Given the description of an element on the screen output the (x, y) to click on. 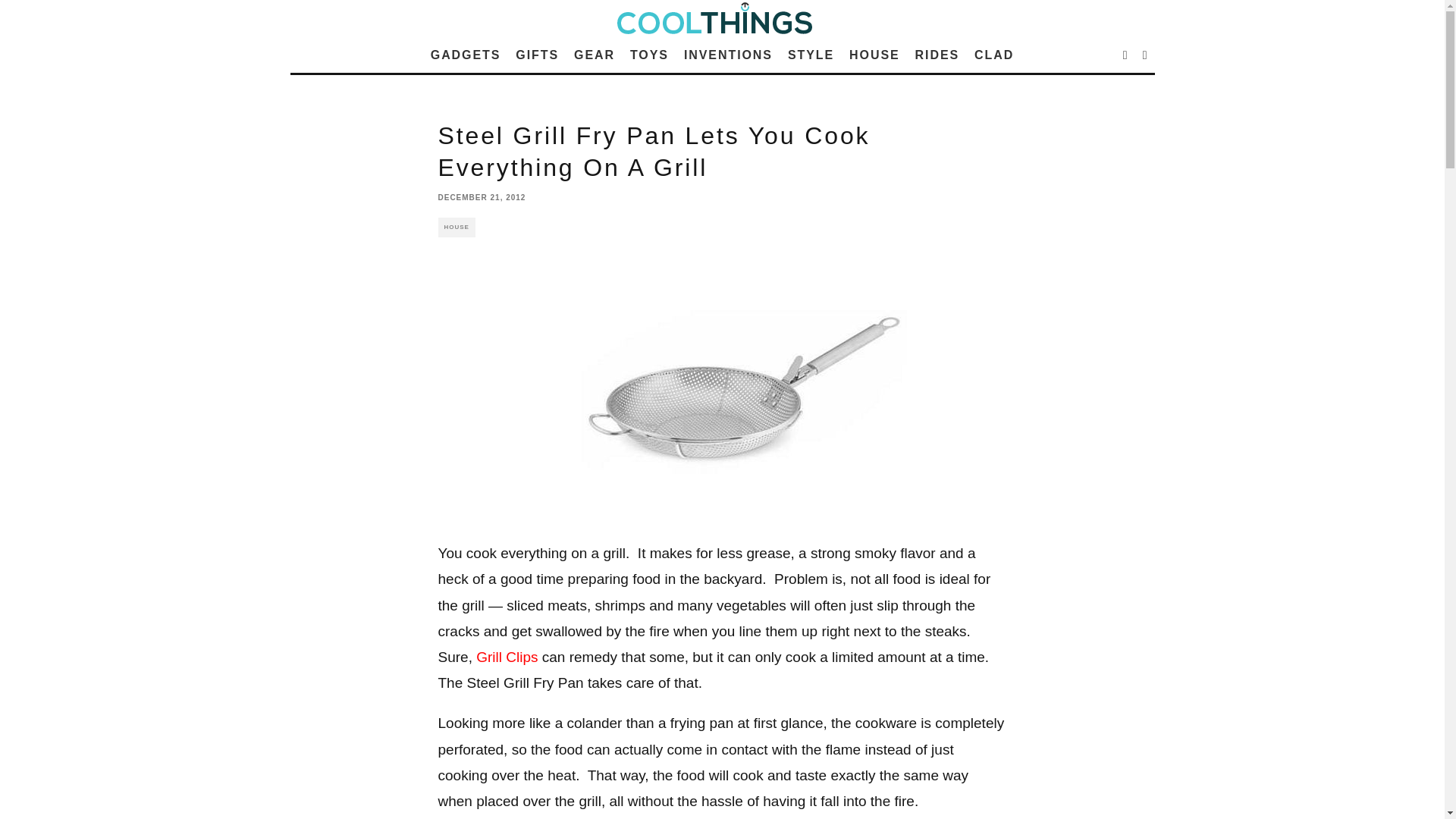
TOYS (650, 54)
GADGETS (465, 54)
GIFTS (537, 54)
STYLE (810, 54)
INVENTIONS (728, 54)
GEAR (594, 54)
